Given the description of an element on the screen output the (x, y) to click on. 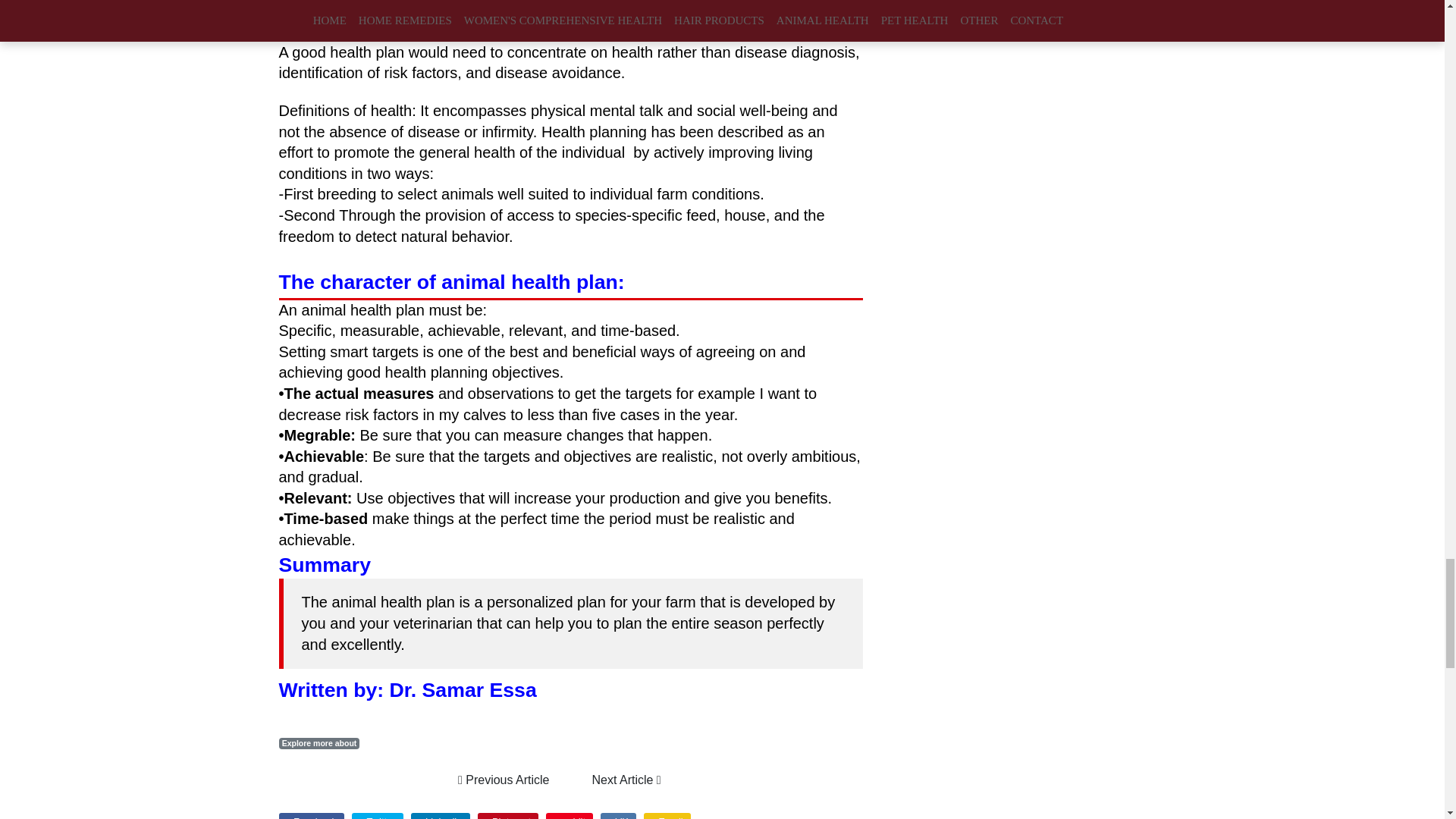
Facebook (311, 816)
Next Article (626, 779)
Linkedin (440, 816)
Twitter (377, 816)
Previous Article (503, 779)
via email (666, 816)
